Given the description of an element on the screen output the (x, y) to click on. 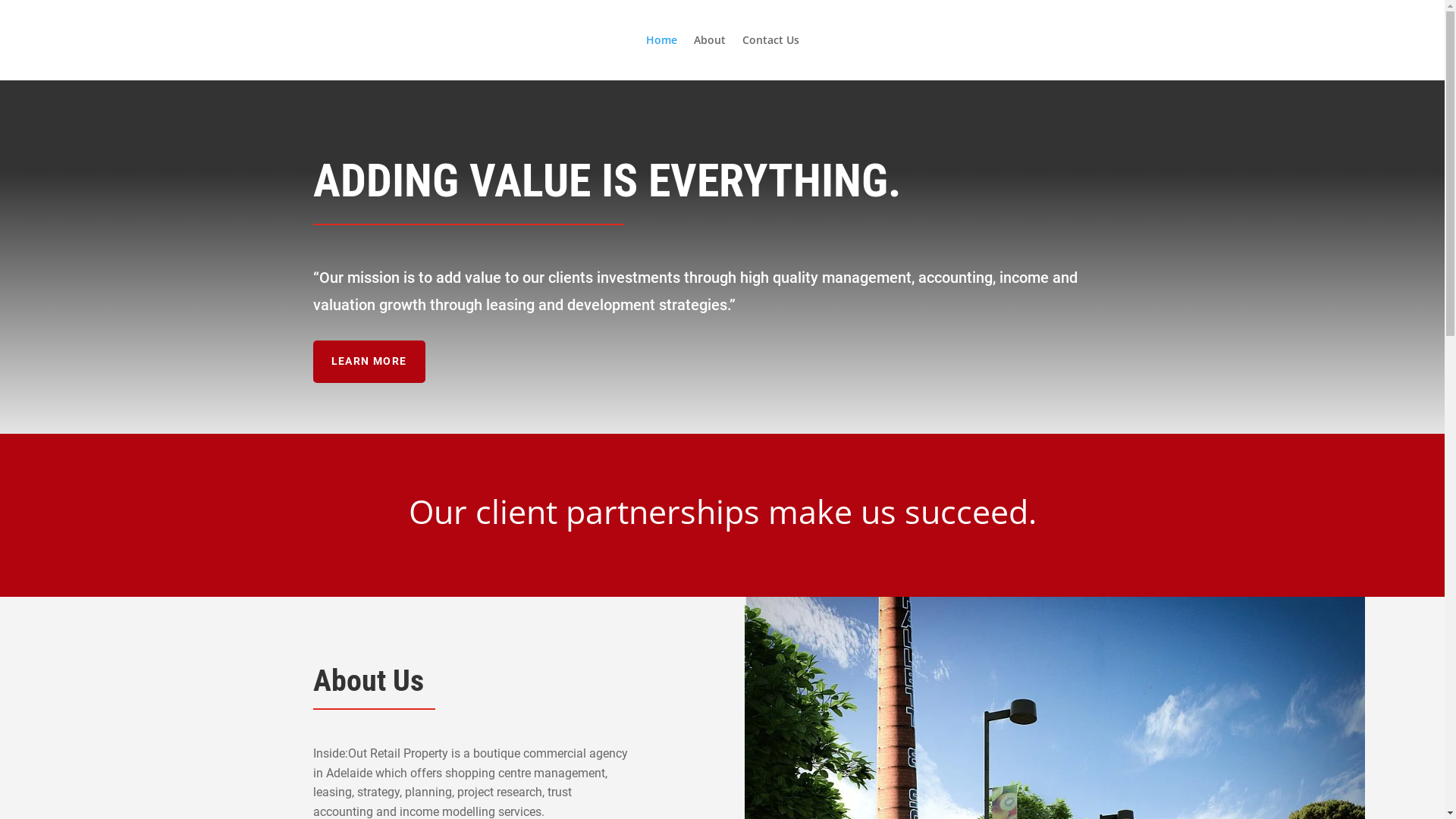
Home Element type: text (661, 57)
Contact Us Element type: text (769, 57)
About Element type: text (708, 57)
LEARN MORE Element type: text (368, 361)
